Given the description of an element on the screen output the (x, y) to click on. 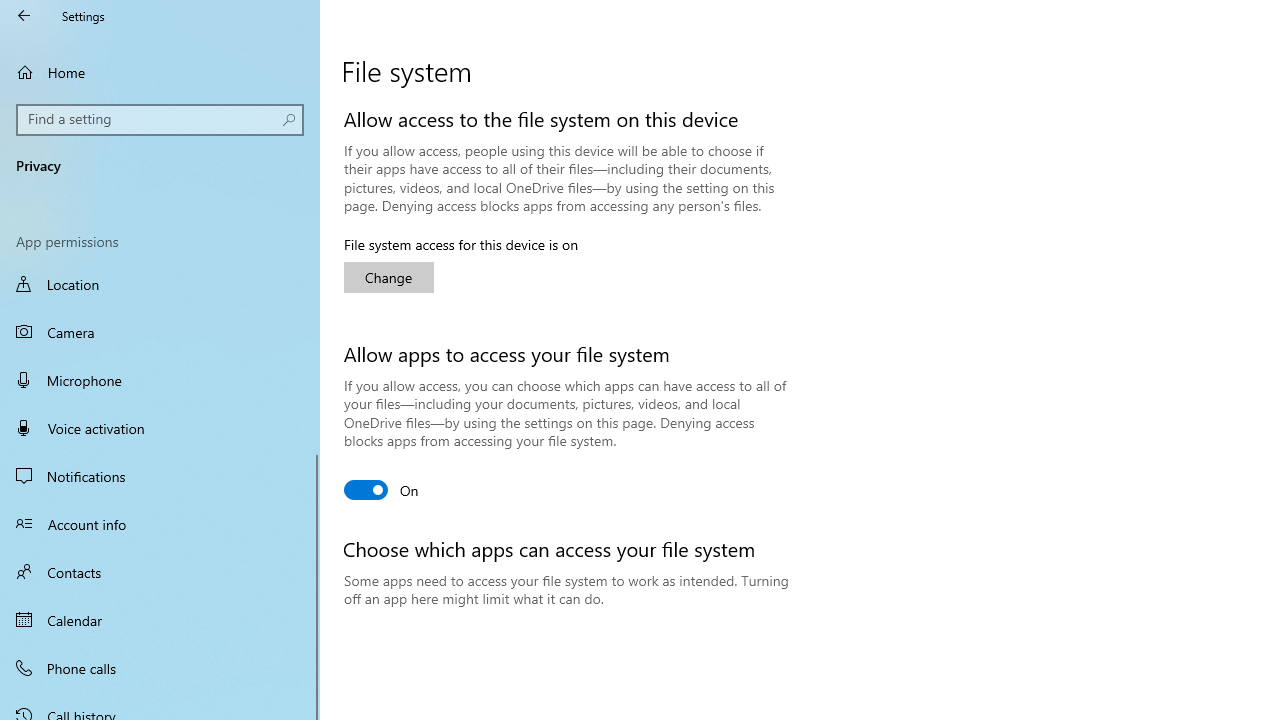
Allow apps to access your file system (381, 489)
Account info (160, 523)
Search box, Find a setting (160, 119)
Voice activation (160, 427)
Camera (160, 331)
Notifications (160, 475)
Change (388, 277)
Contacts (160, 571)
Phone calls (160, 667)
Calendar (160, 619)
Microphone (160, 379)
Location (160, 286)
